Given the description of an element on the screen output the (x, y) to click on. 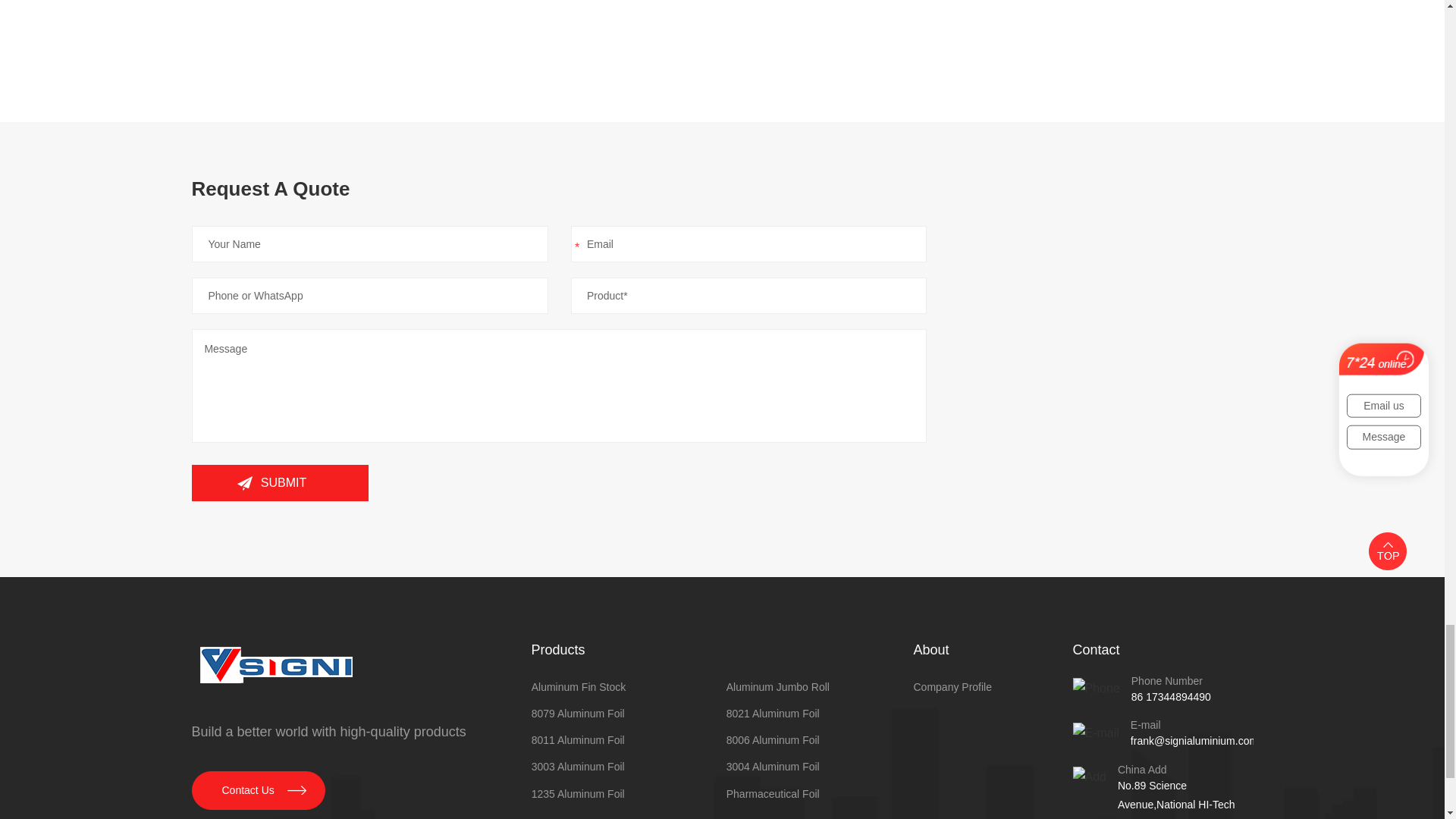
1235 Aluminum Foil (625, 793)
Please enter an email address. (748, 244)
3003 Aluminum Foil (625, 766)
Company Profile (991, 687)
Aluminum Fin Stock (625, 687)
Pharmaceutical Foil (820, 793)
Contact Us (257, 790)
3004 Aluminum Foil (820, 766)
submit (279, 483)
8021 Aluminum Foil (820, 713)
